Given the description of an element on the screen output the (x, y) to click on. 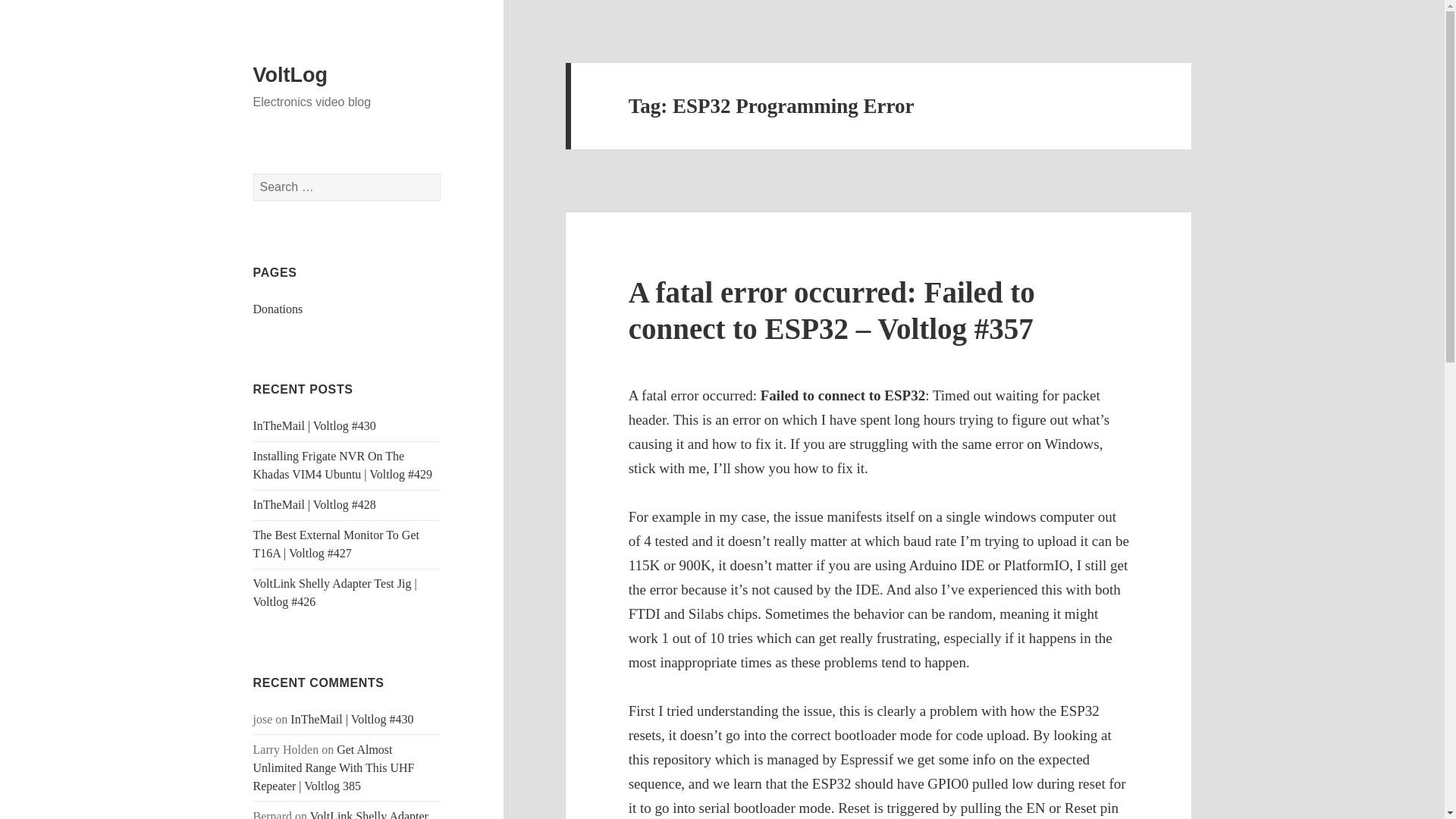
Donations (277, 308)
VoltLog (290, 74)
